Given the description of an element on the screen output the (x, y) to click on. 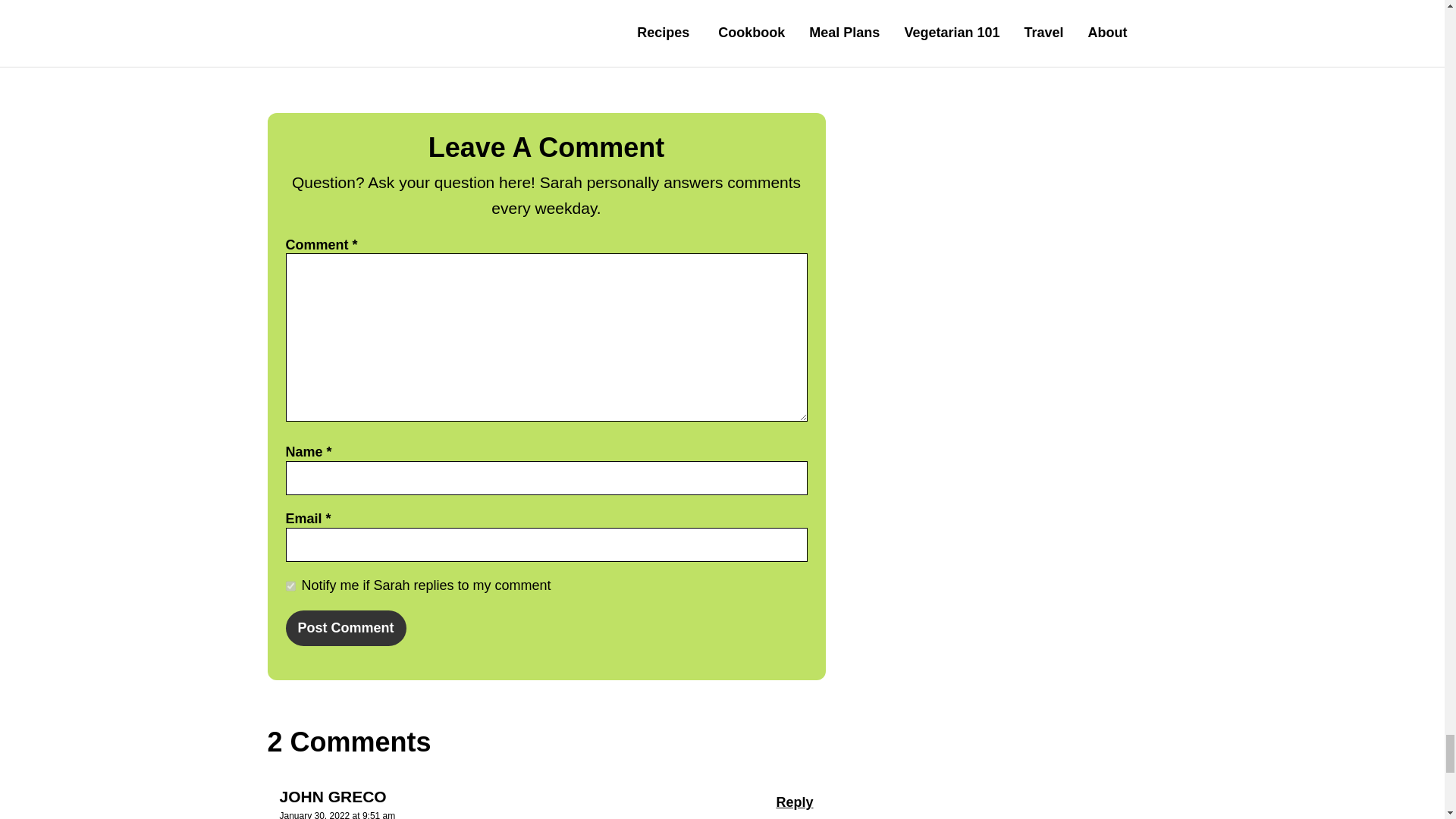
Post Comment (345, 628)
